Given the description of an element on the screen output the (x, y) to click on. 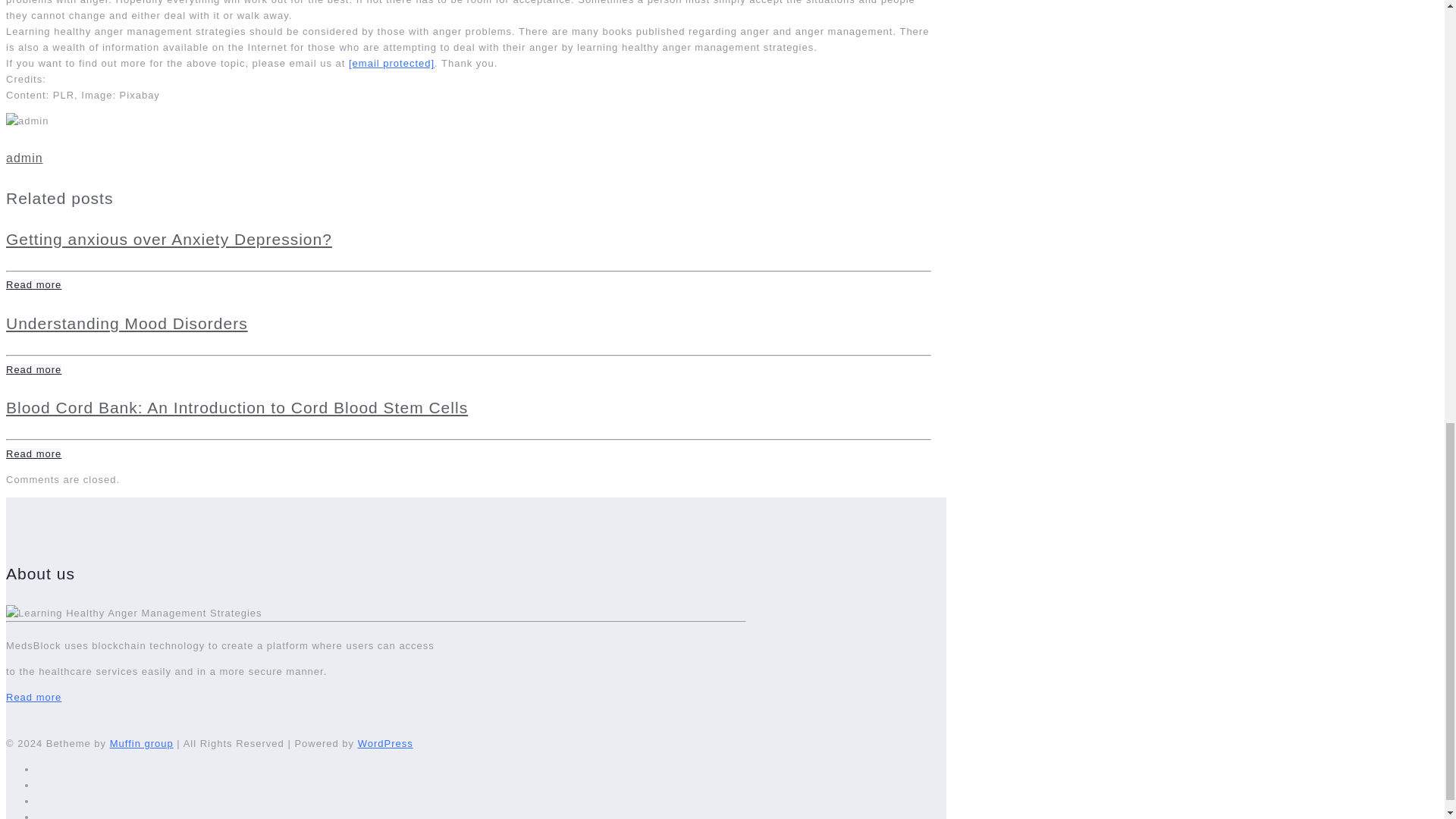
admin (24, 157)
WordPress (385, 743)
Read more (33, 284)
Getting anxious over Anxiety Depression? (168, 239)
Blood Cord Bank: An Introduction to Cord Blood Stem Cells (236, 407)
Understanding Mood Disorders (126, 323)
Muffin group (141, 743)
Read more (33, 696)
Read more (33, 369)
Read more (33, 453)
